Given the description of an element on the screen output the (x, y) to click on. 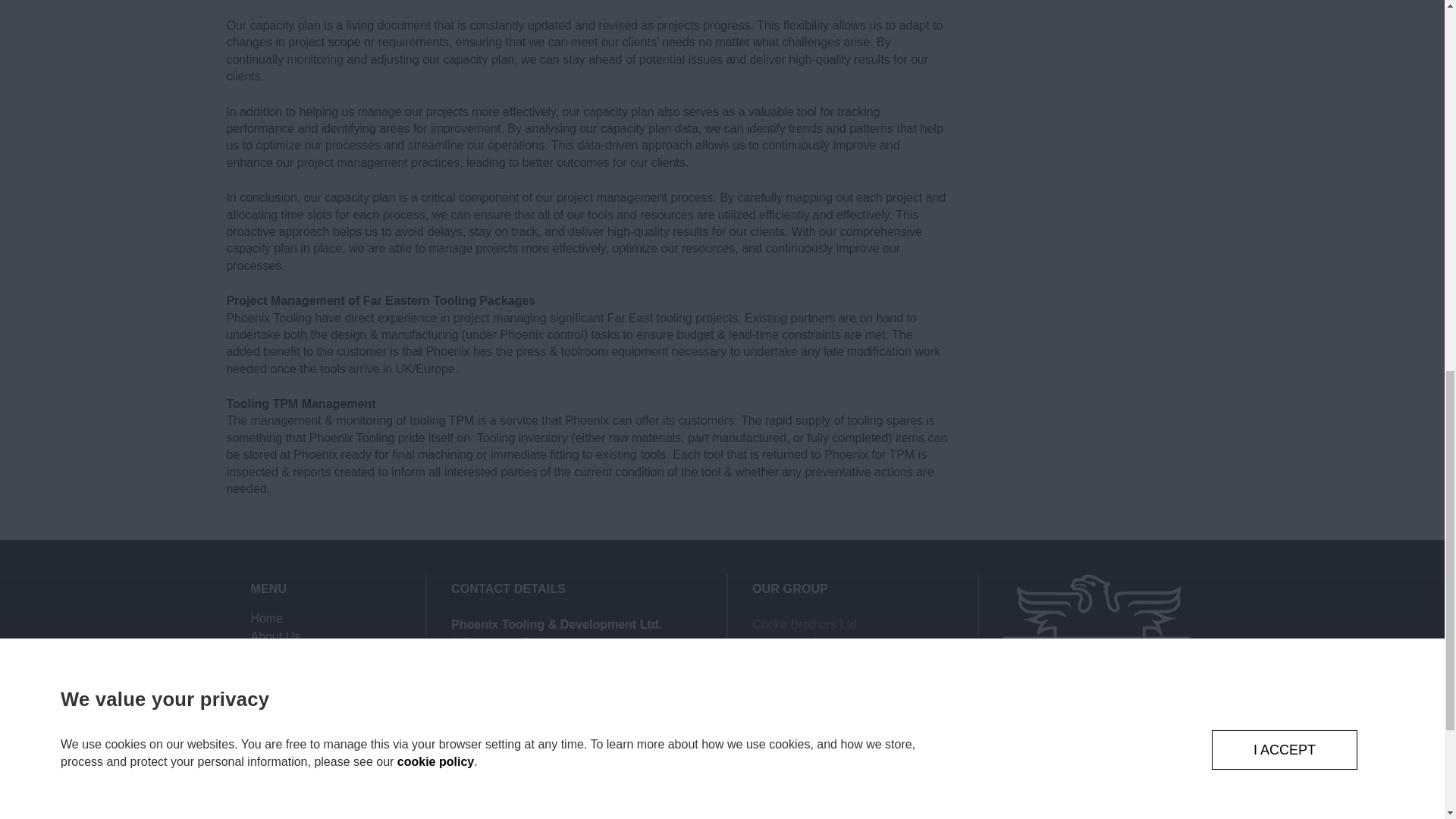
Cook Brothers Ltd (820, 642)
